Given the description of an element on the screen output the (x, y) to click on. 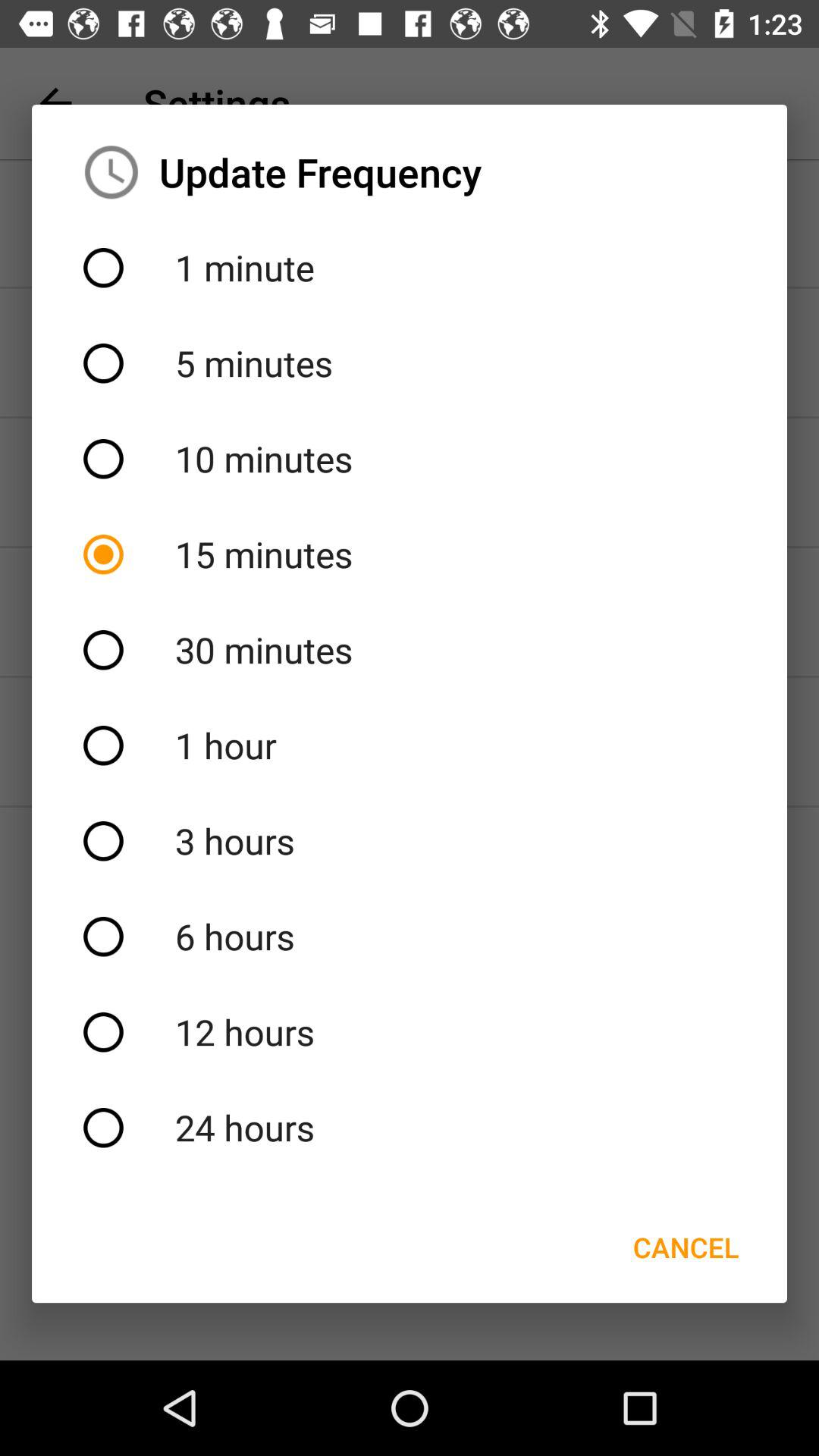
select item above the cancel (409, 1127)
